Given the description of an element on the screen output the (x, y) to click on. 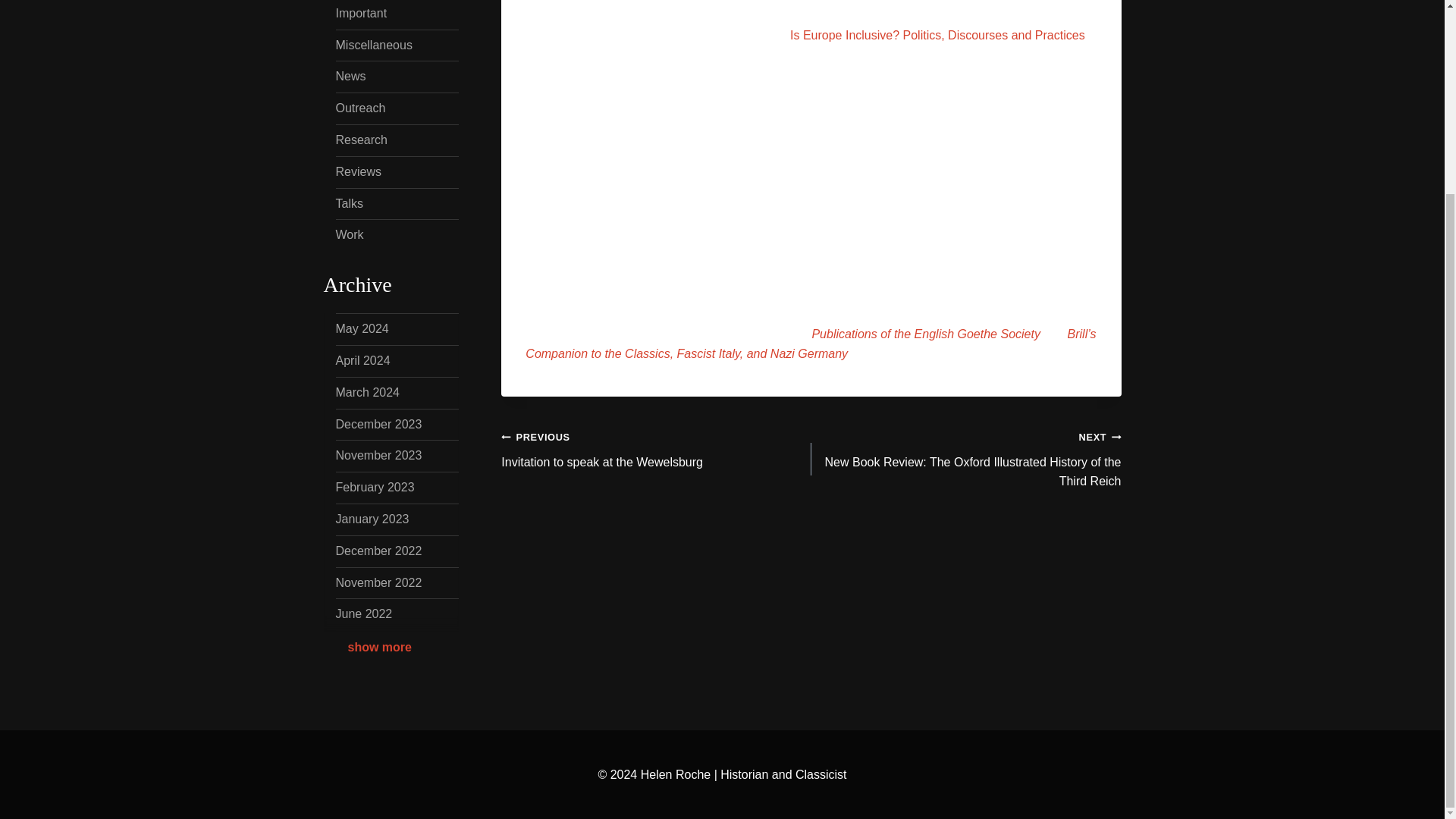
Miscellaneous (655, 448)
News (373, 44)
Research (349, 75)
Is Europe Inclusive? Politics, Discourses and Practices (360, 139)
June 2022 (937, 34)
Work (362, 613)
Publications of the English Goethe Society (348, 234)
Outreach (925, 333)
Reviews (359, 107)
November 2023 (357, 171)
May 2024 (378, 454)
Talks (361, 328)
December 2022 (348, 203)
February 2023 (378, 550)
